Given the description of an element on the screen output the (x, y) to click on. 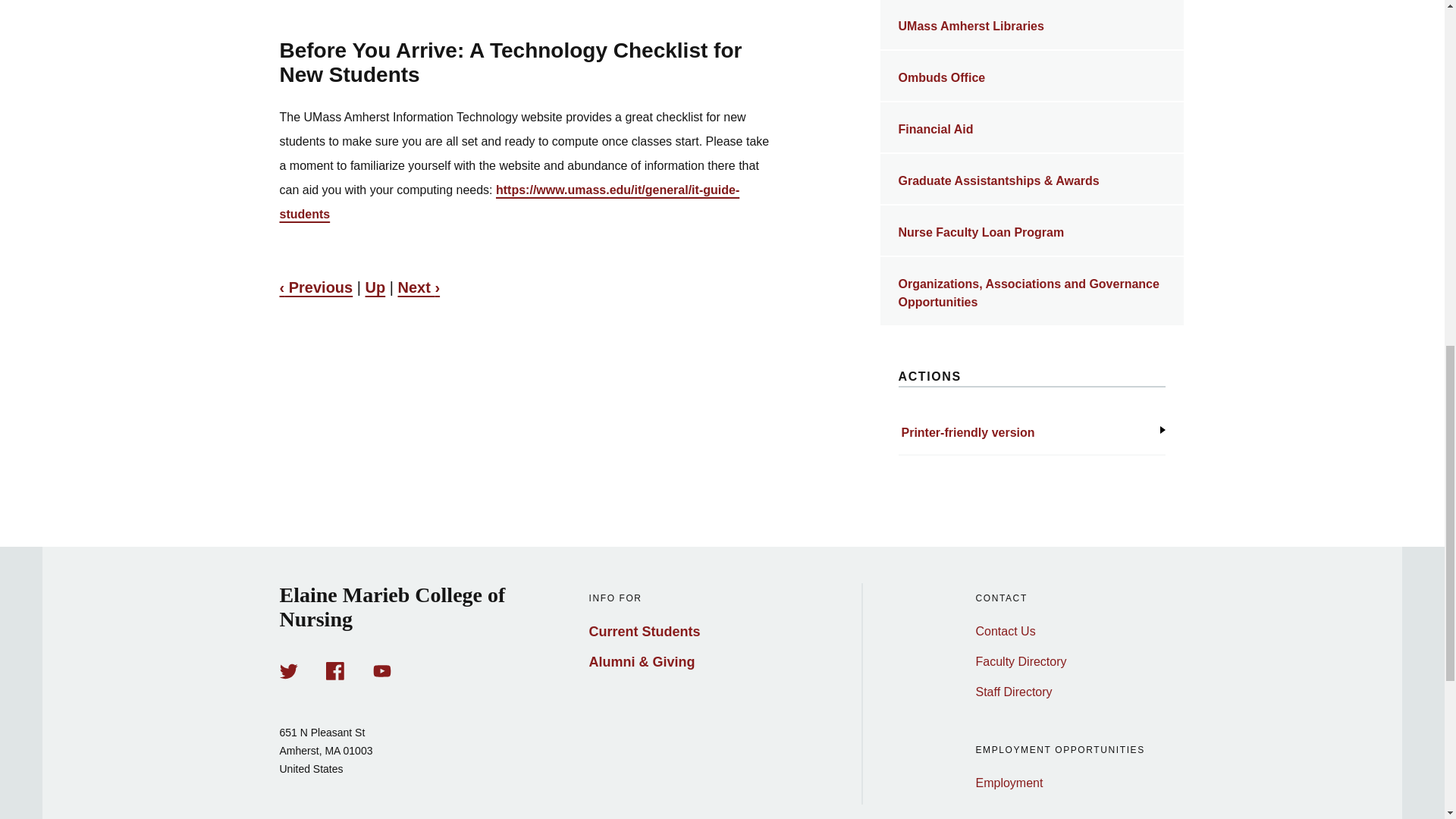
Find us on Facebook (334, 670)
Go to parent page (375, 287)
Find us on YouTube (381, 670)
Go to previous page (315, 287)
Go to next page (419, 287)
Find us on Twitter (288, 670)
